Given the description of an element on the screen output the (x, y) to click on. 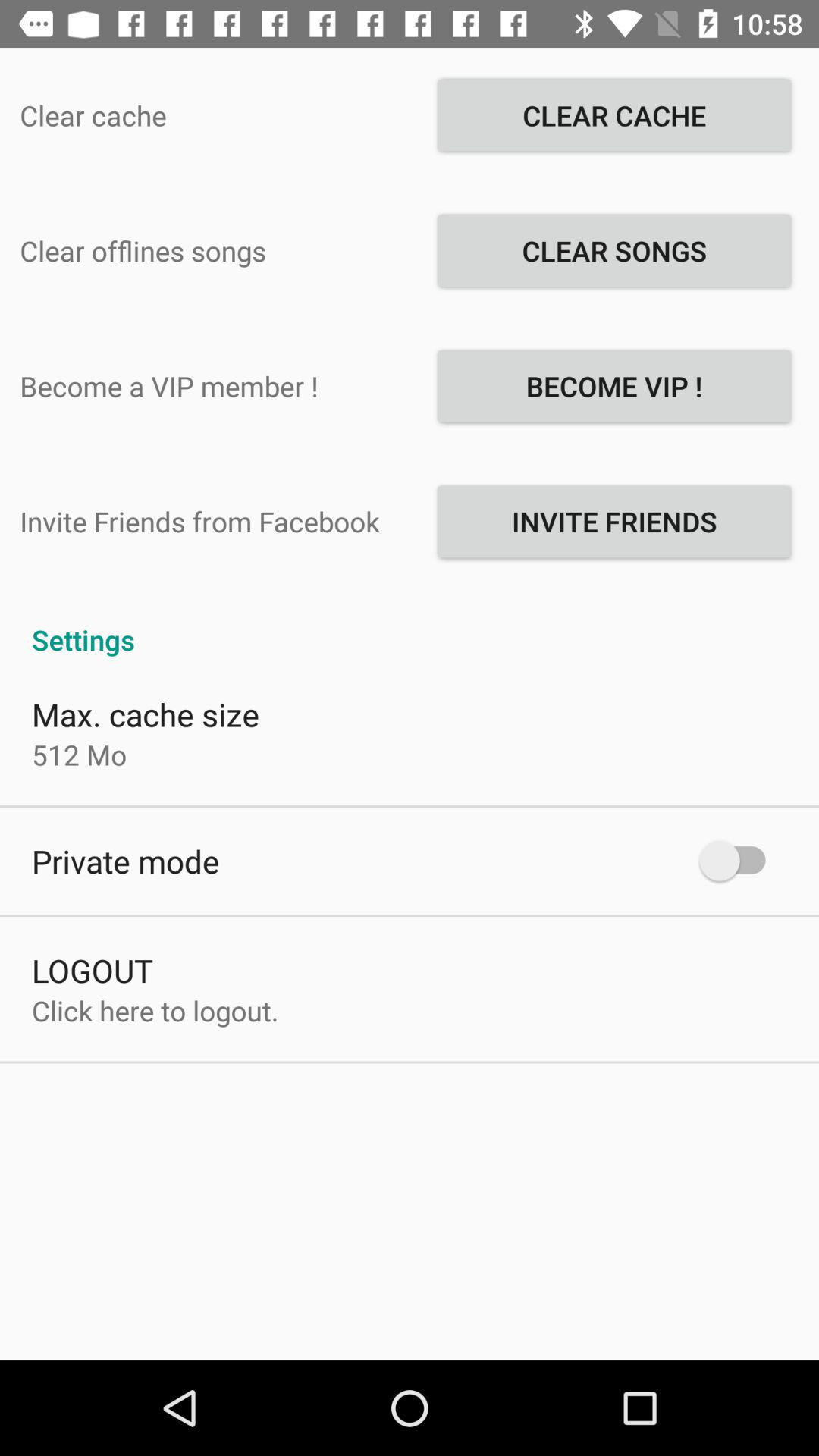
choose the app below the max. cache size app (78, 754)
